Given the description of an element on the screen output the (x, y) to click on. 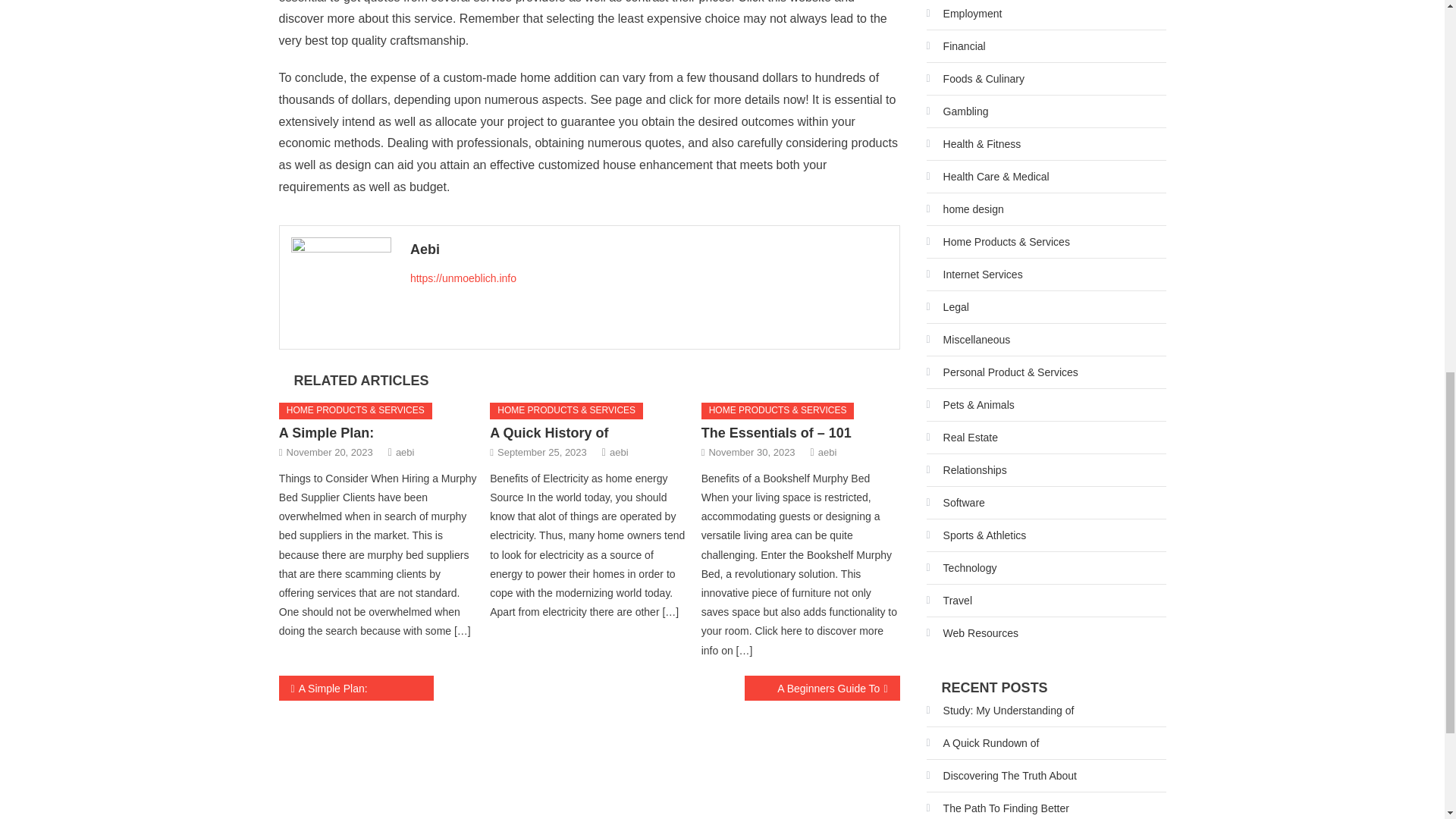
A Simple Plan: (326, 432)
September 25, 2023 (541, 452)
aebi (827, 452)
aebi (405, 452)
November 30, 2023 (750, 452)
A Beginners Guide To (821, 688)
November 20, 2023 (329, 452)
aebi (619, 452)
Aebi (649, 249)
A Simple Plan: (356, 688)
